Given the description of an element on the screen output the (x, y) to click on. 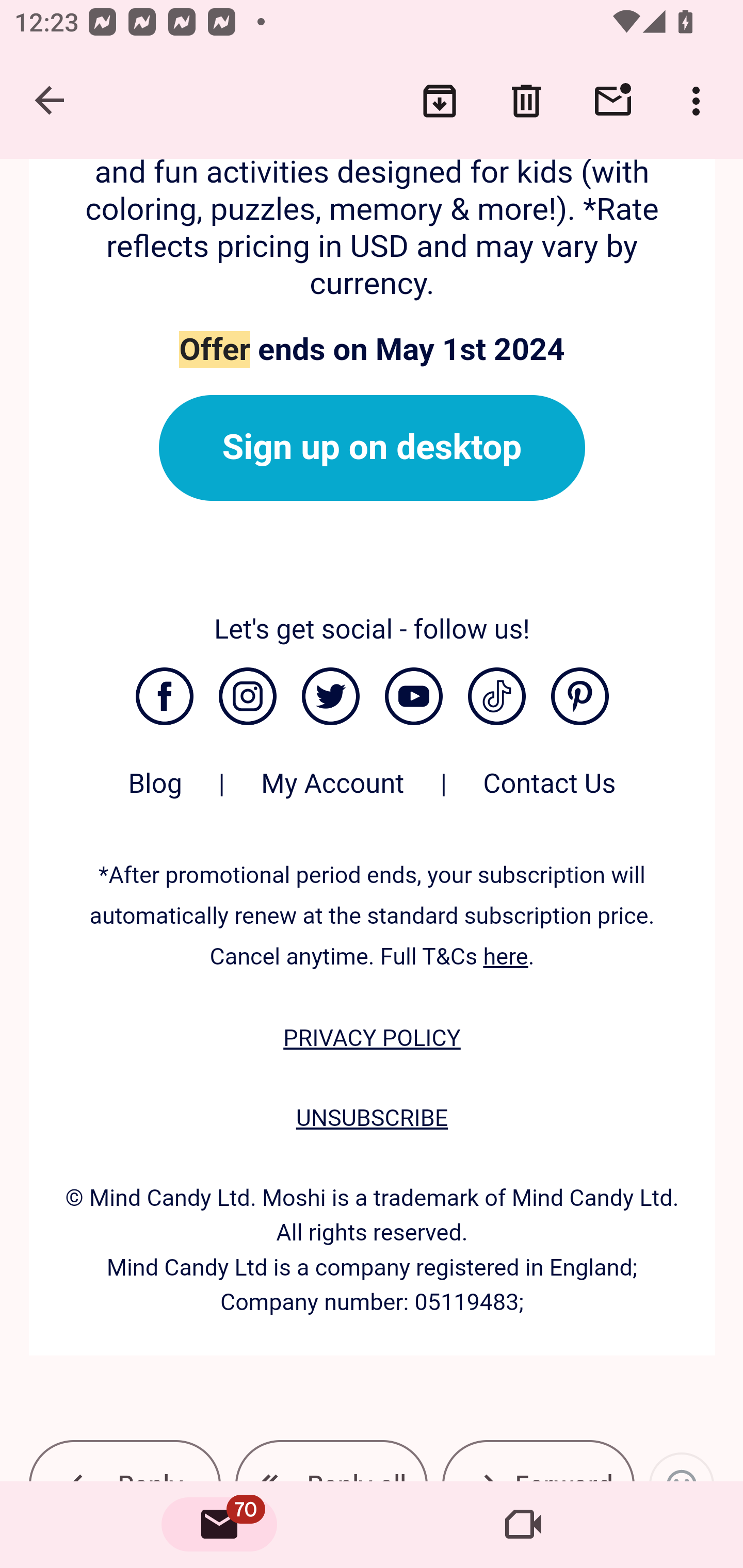
Navigate up (50, 101)
Archive (439, 101)
Delete (525, 101)
Mark unread (612, 101)
More options (699, 101)
Sign up on desktop (372, 448)
Facebook (163, 697)
Instagram (246, 697)
Twitter (330, 697)
YouTube (413, 697)
Custom (496, 697)
Pinterest (579, 697)
Blog (155, 793)
My Account (332, 793)
Contact Us (549, 793)
here (505, 956)
PRIVACY POLICY (371, 1038)
UNSUBSCRIBE (371, 1117)
Meet (523, 1524)
